Given the description of an element on the screen output the (x, y) to click on. 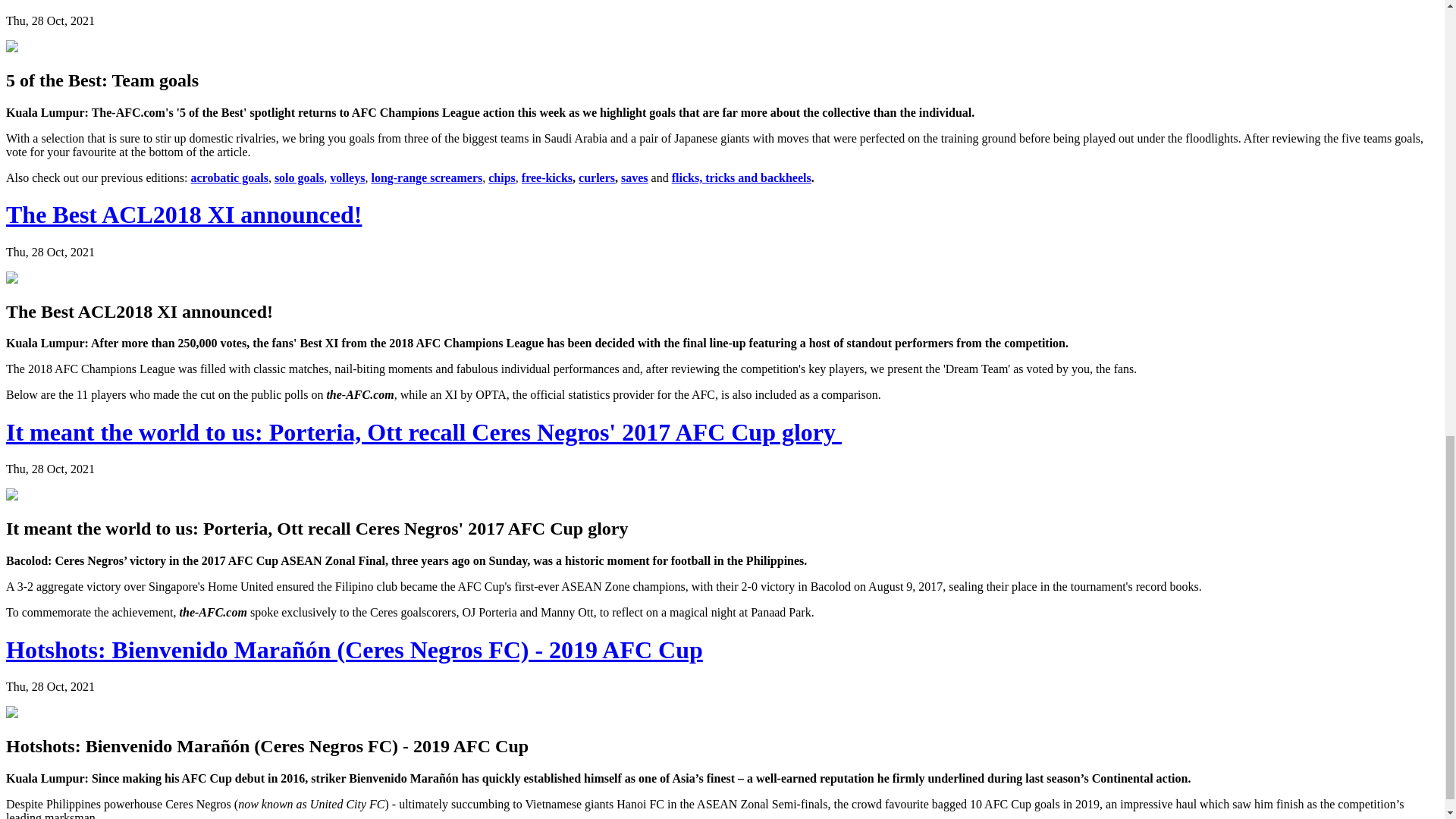
chips (501, 177)
volleys (347, 177)
flicks, tricks and backheels (740, 177)
saves (634, 177)
solo goals (299, 177)
free-kicks (546, 177)
curlers (596, 177)
long-range screamers (426, 177)
The Best ACL2018 XI announced! (183, 214)
